Given the description of an element on the screen output the (x, y) to click on. 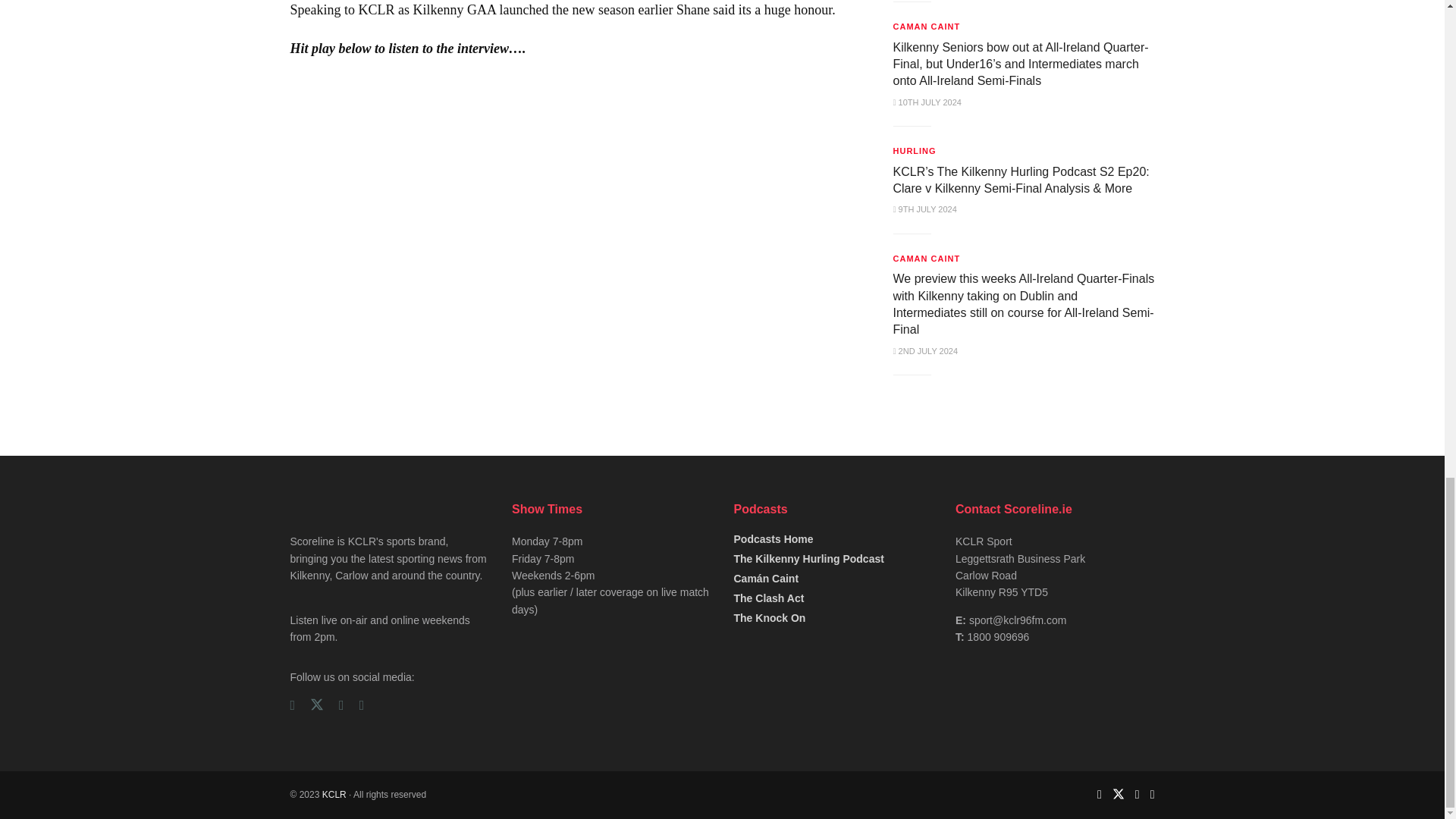
CAMAN CAINT (926, 26)
10TH JULY 2024 (926, 102)
